Given the description of an element on the screen output the (x, y) to click on. 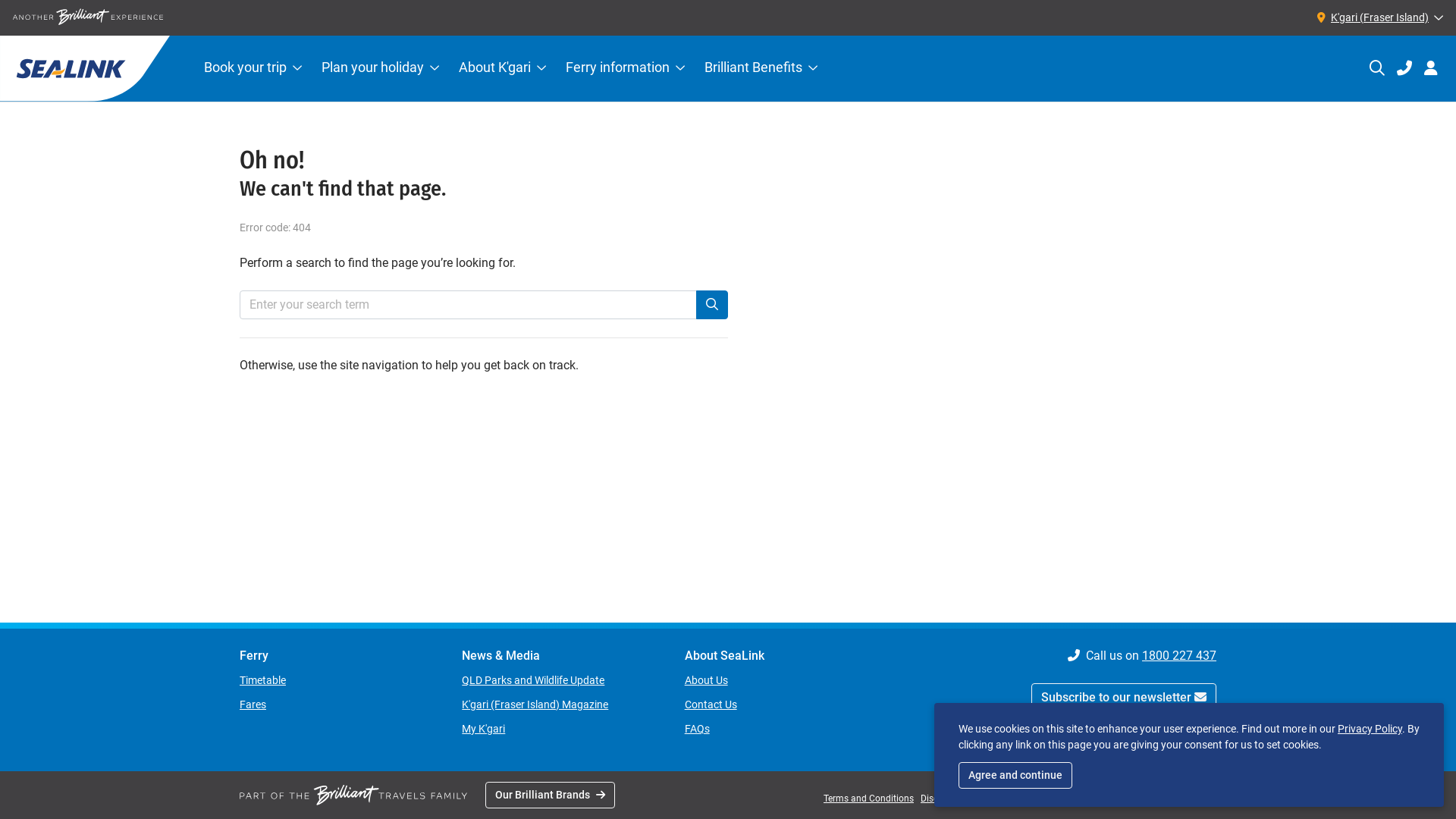
News & Media Element type: text (560, 655)
Search Element type: text (712, 304)
Kelsian Group Limited Element type: text (1171, 798)
Book your trip Element type: text (252, 68)
Ferry information Element type: text (624, 68)
FAQs Element type: text (696, 728)
Brilliant Benefits Element type: text (760, 68)
1800 227 437 Element type: text (1179, 655)
Our Brilliant Brands Element type: text (550, 794)
QLD Parks and Wildlife Update Element type: text (532, 680)
About K'gari Element type: text (501, 68)
About SeaLink Element type: text (783, 655)
Contact Us Element type: text (710, 704)
Subscribe to our newsletter Element type: text (1123, 697)
Agree and continue Element type: text (1015, 775)
Privacy Policy Element type: text (1369, 728)
Like us on Facebook Element type: text (1208, 741)
SeaLink Element type: hover (84, 68)
Plan your holiday Element type: text (379, 68)
About Us Element type: text (706, 680)
Disclaimer Element type: text (941, 798)
Privacy Policy Element type: text (999, 798)
K'gari (Fraser Island) Element type: text (1376, 17)
Fares Element type: text (252, 704)
Search Element type: hover (1376, 68)
Terms and Conditions Element type: text (868, 798)
Another Brilliant experience Element type: hover (87, 17)
Ferry Element type: text (338, 655)
Timetable Element type: text (262, 680)
Your account / Manage bookings Element type: hover (1430, 68)
Part of the Brilliant Travels Family Element type: hover (353, 794)
My K'gari Element type: text (483, 728)
K'gari (Fraser Island) Magazine Element type: text (534, 704)
Call us Element type: hover (1404, 68)
